Given the description of an element on the screen output the (x, y) to click on. 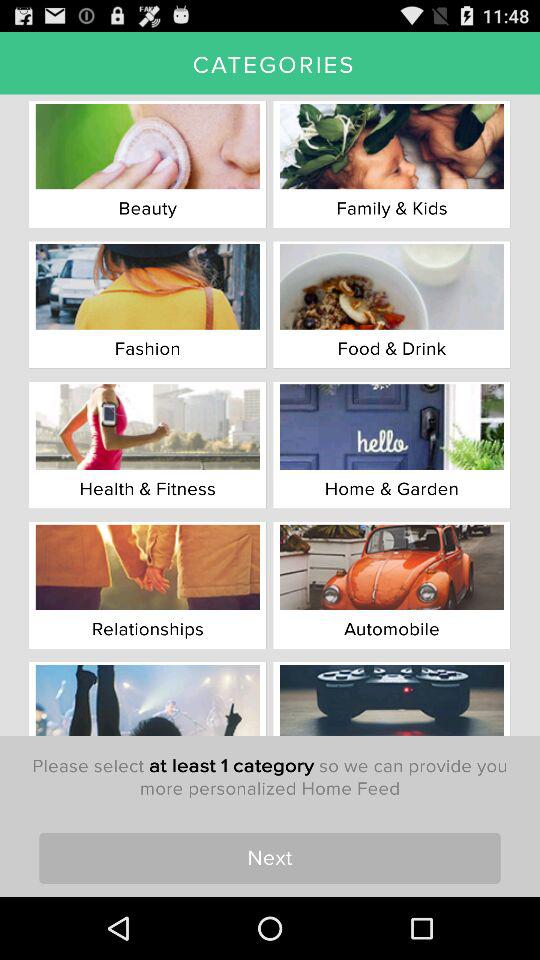
open next item (269, 857)
